Given the description of an element on the screen output the (x, y) to click on. 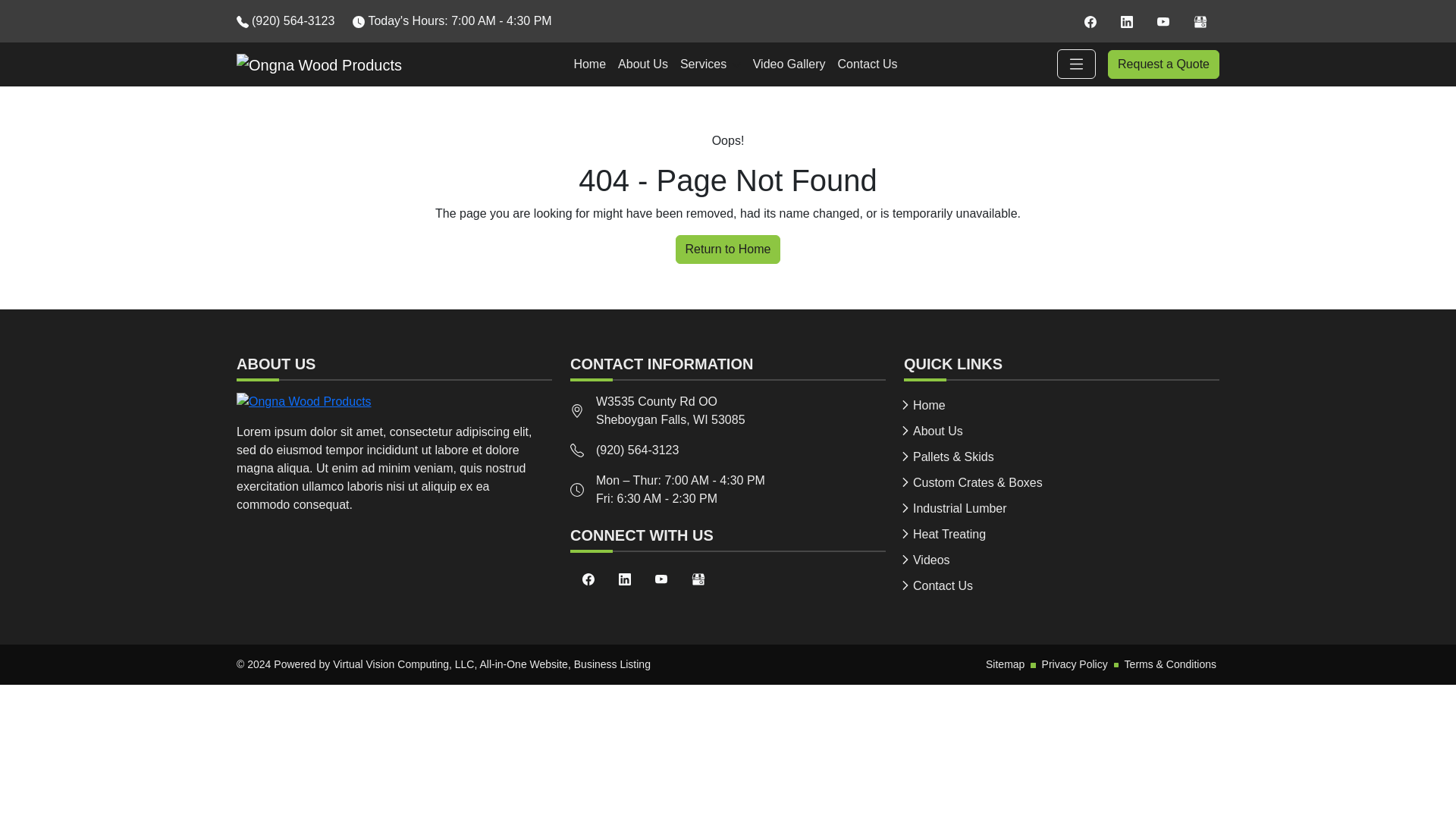
Home (589, 64)
Industrial Lumber (1062, 508)
Return to Home (727, 249)
Return to Home (318, 64)
Request a Quote (1164, 63)
Services (670, 409)
About Us (710, 64)
Home (642, 64)
About Us (1062, 405)
Return to Home (1062, 431)
Ongna Wood Products (393, 402)
Ongna Wood Products (318, 65)
Subscribe to our YouTube Channel (303, 402)
Return to Home (1162, 20)
